Given the description of an element on the screen output the (x, y) to click on. 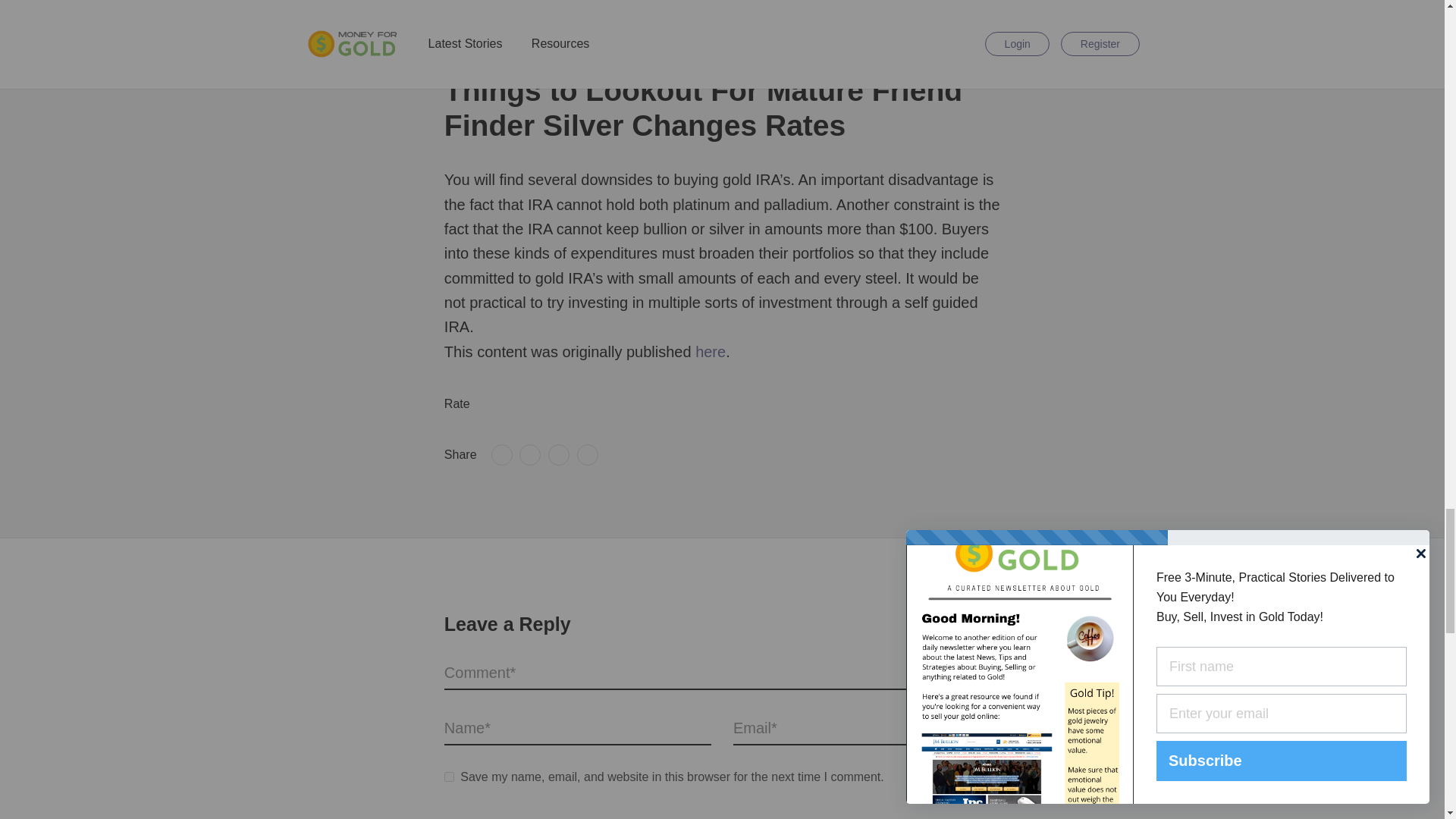
Pinterest (558, 455)
Email (586, 455)
Email (586, 455)
1 star (487, 404)
5 stars (544, 404)
yes (449, 777)
2 stars (501, 404)
4 stars (529, 404)
Twitter (529, 455)
Pinterest (558, 455)
here (710, 351)
3 stars (515, 404)
Facebook (502, 455)
Facebook (502, 455)
Twitter (529, 455)
